Given the description of an element on the screen output the (x, y) to click on. 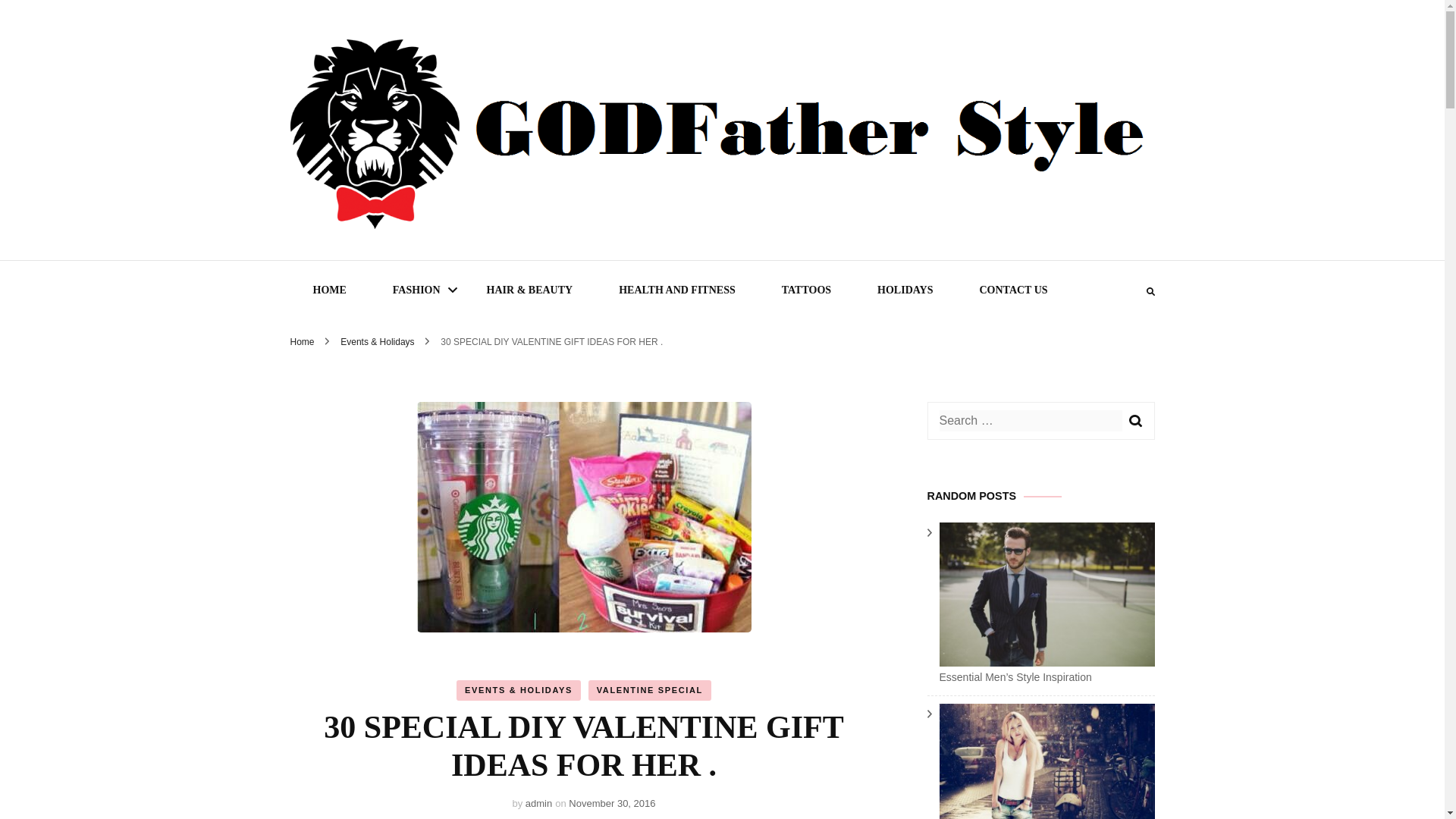
30 SPECIAL DIY VALENTINE GIFT IDEAS FOR HER . (551, 341)
TATTOOS (805, 290)
VALENTINE SPECIAL (649, 690)
HOLIDAYS (904, 290)
admin (538, 803)
Home (301, 341)
FASHION (416, 290)
HOME (328, 290)
CONTACT US (1013, 290)
Search (1134, 420)
Godfather Style (434, 265)
Search (1134, 420)
November 30, 2016 (612, 803)
HEALTH AND FITNESS (676, 290)
